Given the description of an element on the screen output the (x, y) to click on. 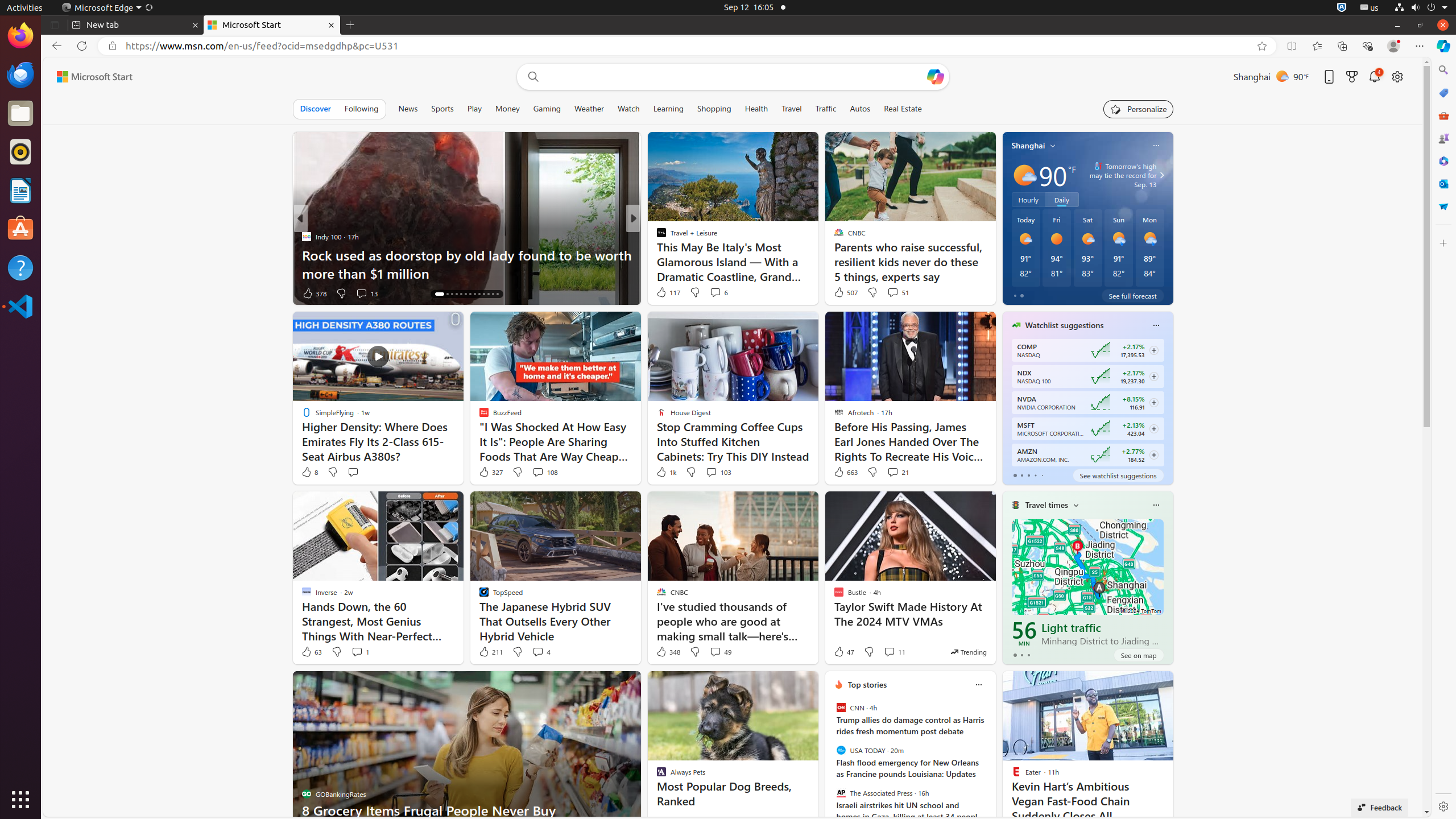
348 Like Element type: toggle-button (667, 651)
724 Like Element type: toggle-button (664, 292)
View comments 4 Comment Element type: link (541, 651)
Health Element type: link (756, 108)
205 Like Element type: toggle-button (664, 292)
